Given the description of an element on the screen output the (x, y) to click on. 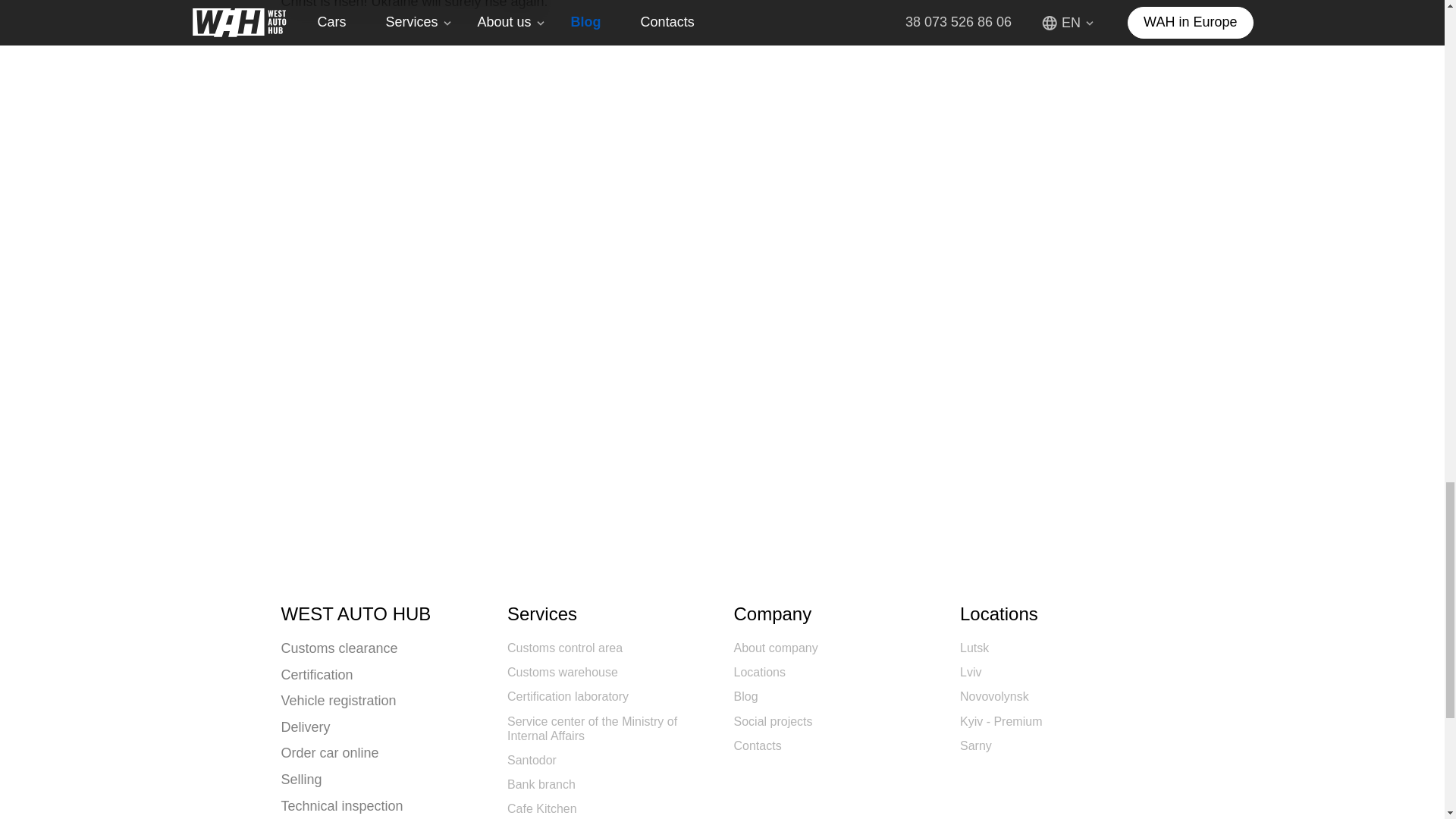
WEST AUTO HUB (382, 614)
Certification (317, 675)
Order car online (330, 753)
Customs clearance (339, 648)
Delivery (306, 727)
Vehicle registration (339, 701)
